Given the description of an element on the screen output the (x, y) to click on. 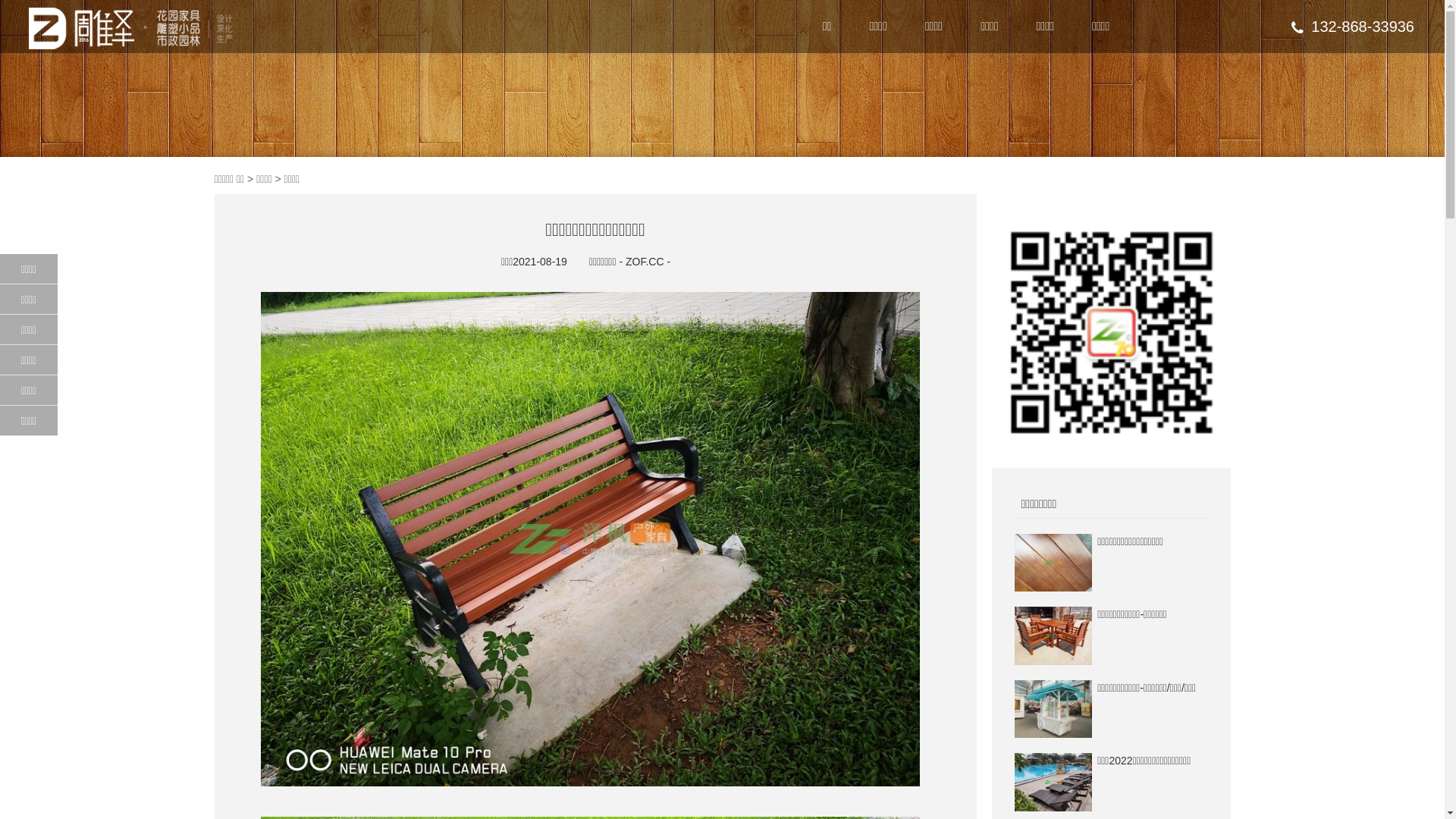
132-868-33936 Element type: text (1352, 26)
